Given the description of an element on the screen output the (x, y) to click on. 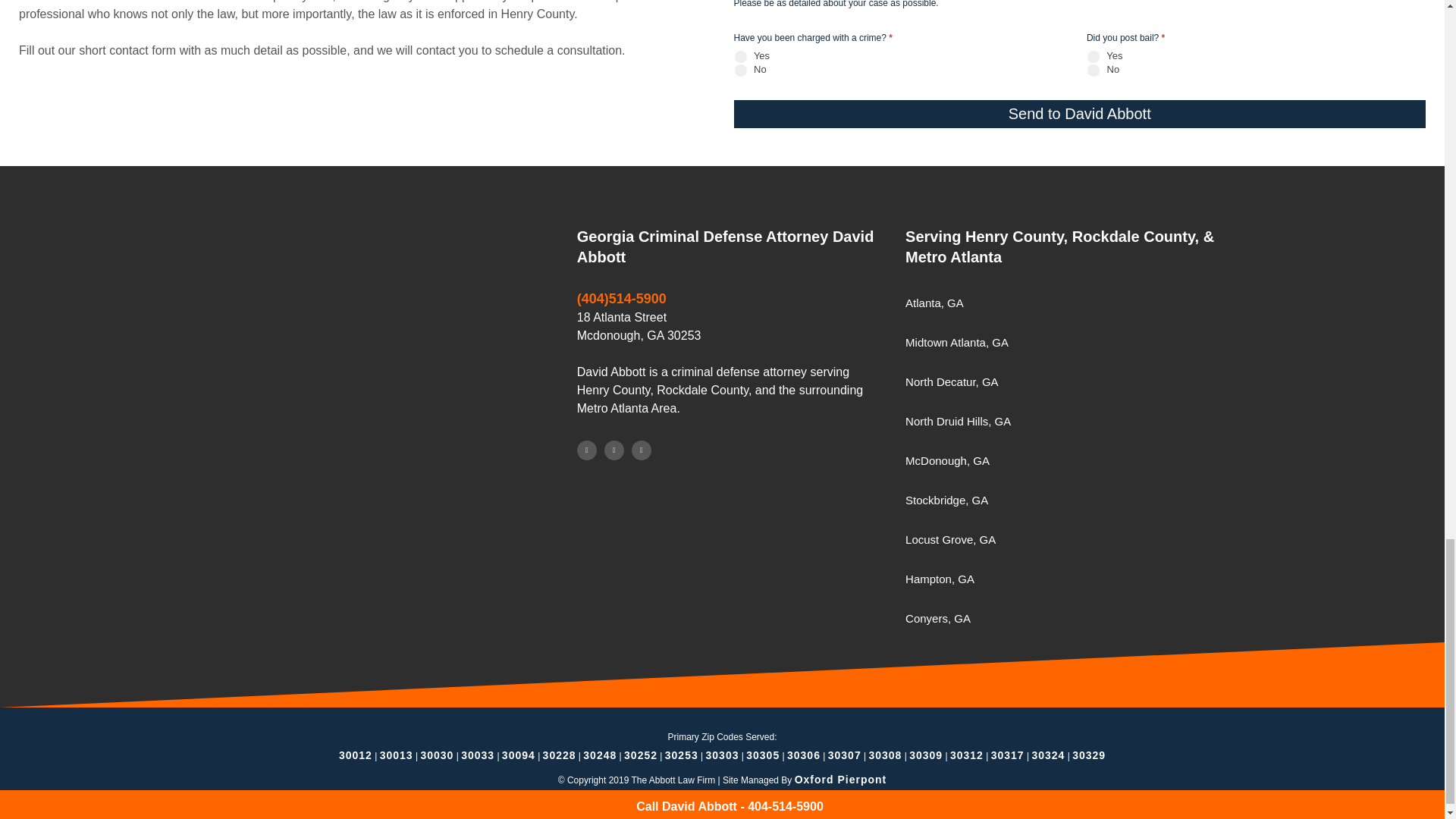
Yes (740, 56)
No (740, 69)
Yes (1093, 56)
No (1093, 69)
